Given the description of an element on the screen output the (x, y) to click on. 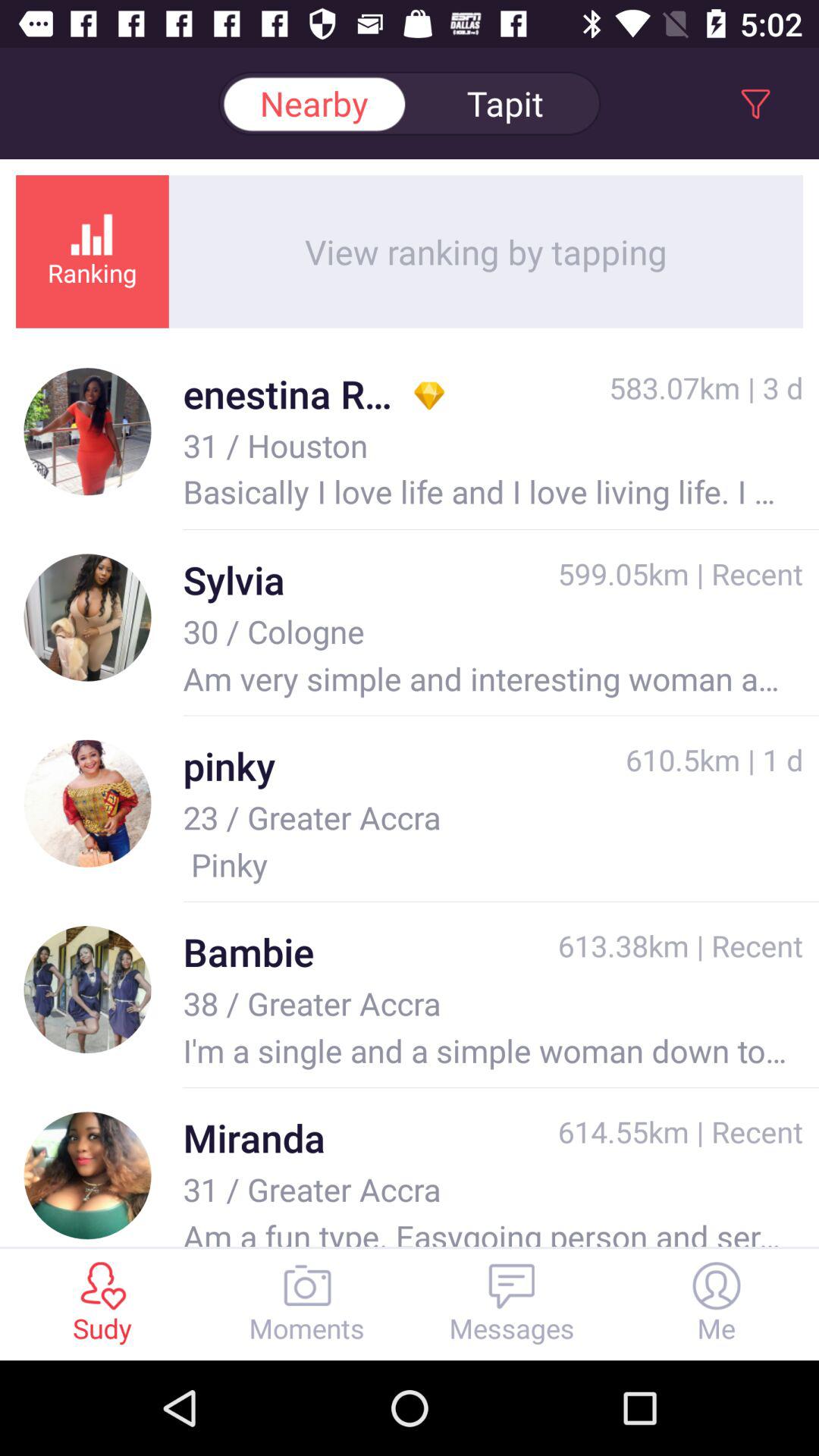
press item next to tapit item (313, 103)
